Given the description of an element on the screen output the (x, y) to click on. 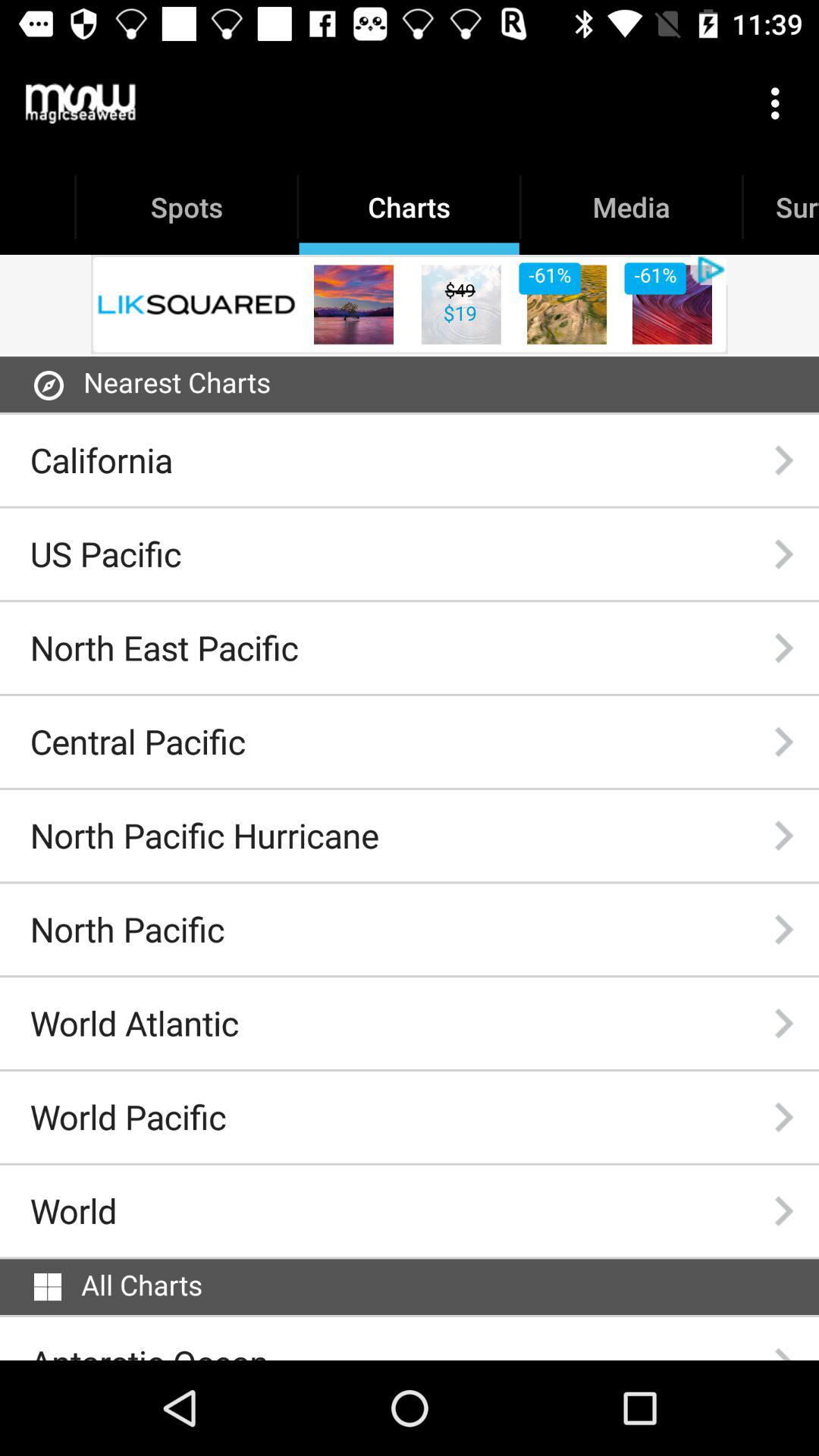
open the item below the all charts (149, 1349)
